Given the description of an element on the screen output the (x, y) to click on. 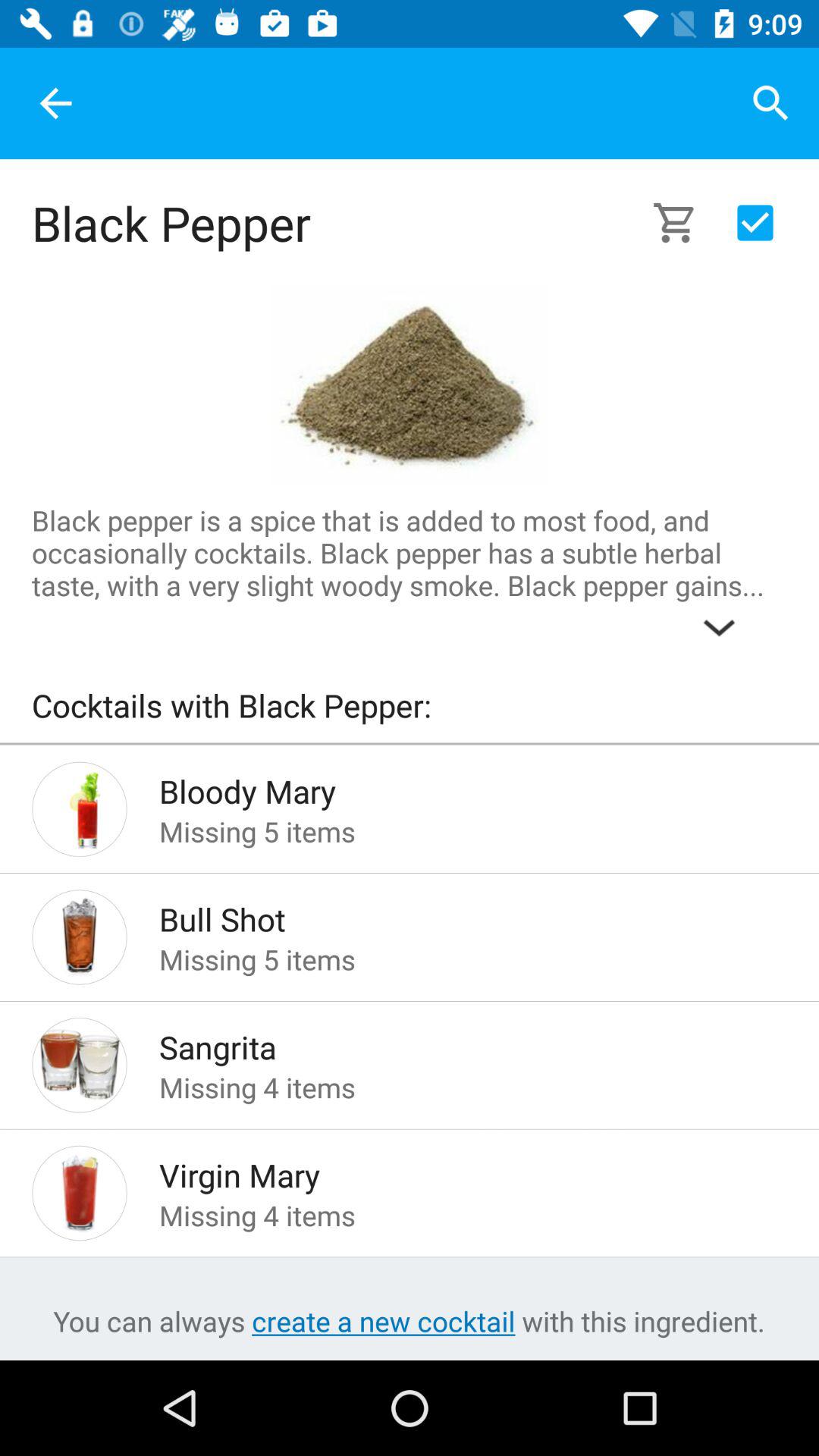
launch the item at the top left corner (55, 103)
